Given the description of an element on the screen output the (x, y) to click on. 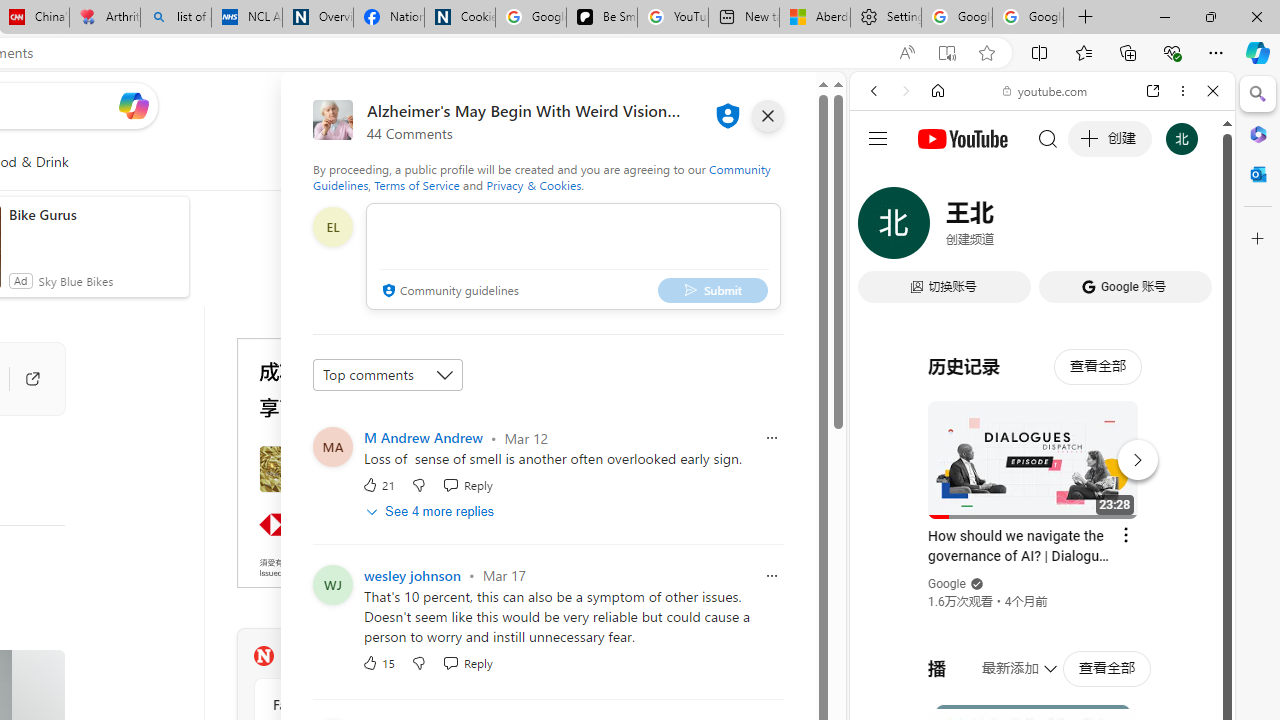
comment-box (573, 256)
Google (1042, 494)
Notifications (746, 105)
Search Filter, WEB (882, 228)
Class: qc-adchoices-link top-right  (526, 344)
Restore (1210, 16)
Community guidelines (448, 291)
Sort comments by (388, 374)
Home (938, 91)
WEB   (882, 228)
